Given the description of an element on the screen output the (x, y) to click on. 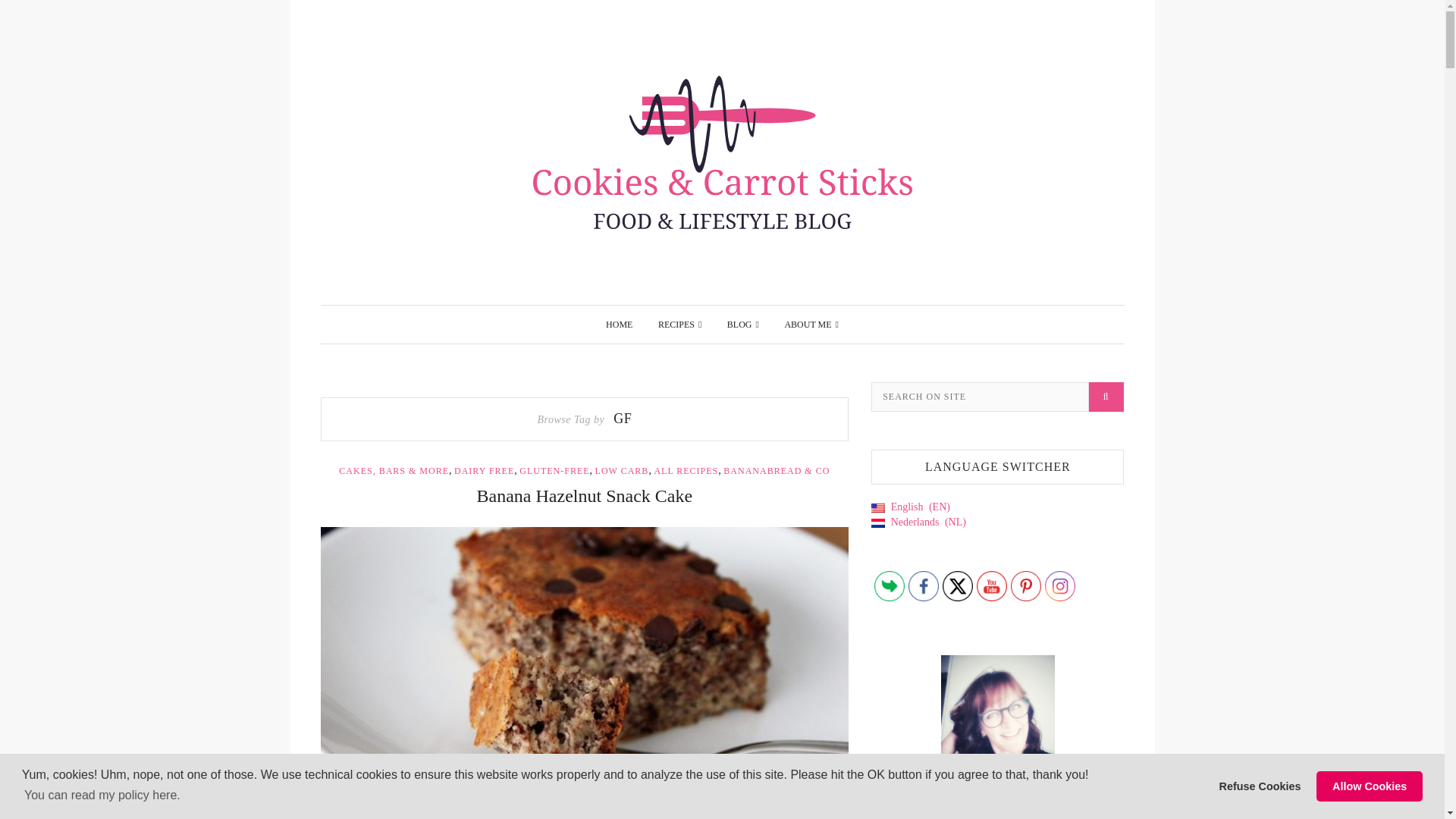
ABOUT ME (811, 324)
Allow Cookies (1369, 786)
You can read my policy here. (102, 794)
HOME (618, 324)
RECIPES (679, 324)
Refuse Cookies (1259, 786)
BLOG (742, 324)
